Given the description of an element on the screen output the (x, y) to click on. 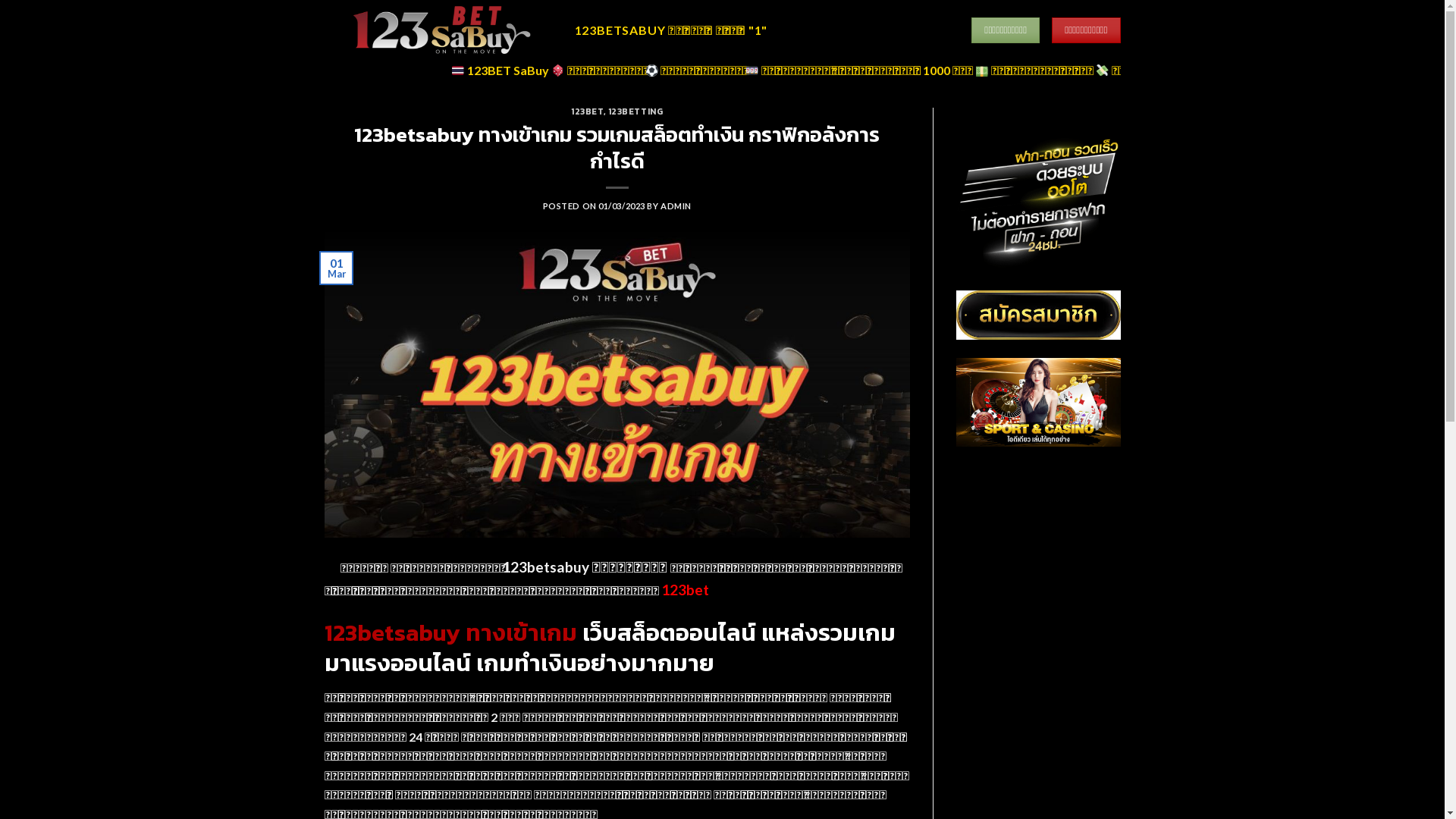
ADMIN Element type: text (675, 205)
01/03/2023 Element type: text (621, 205)
123BET Element type: text (586, 111)
123bet Element type: text (685, 589)
123BETTING Element type: text (635, 111)
